Given the description of an element on the screen output the (x, y) to click on. 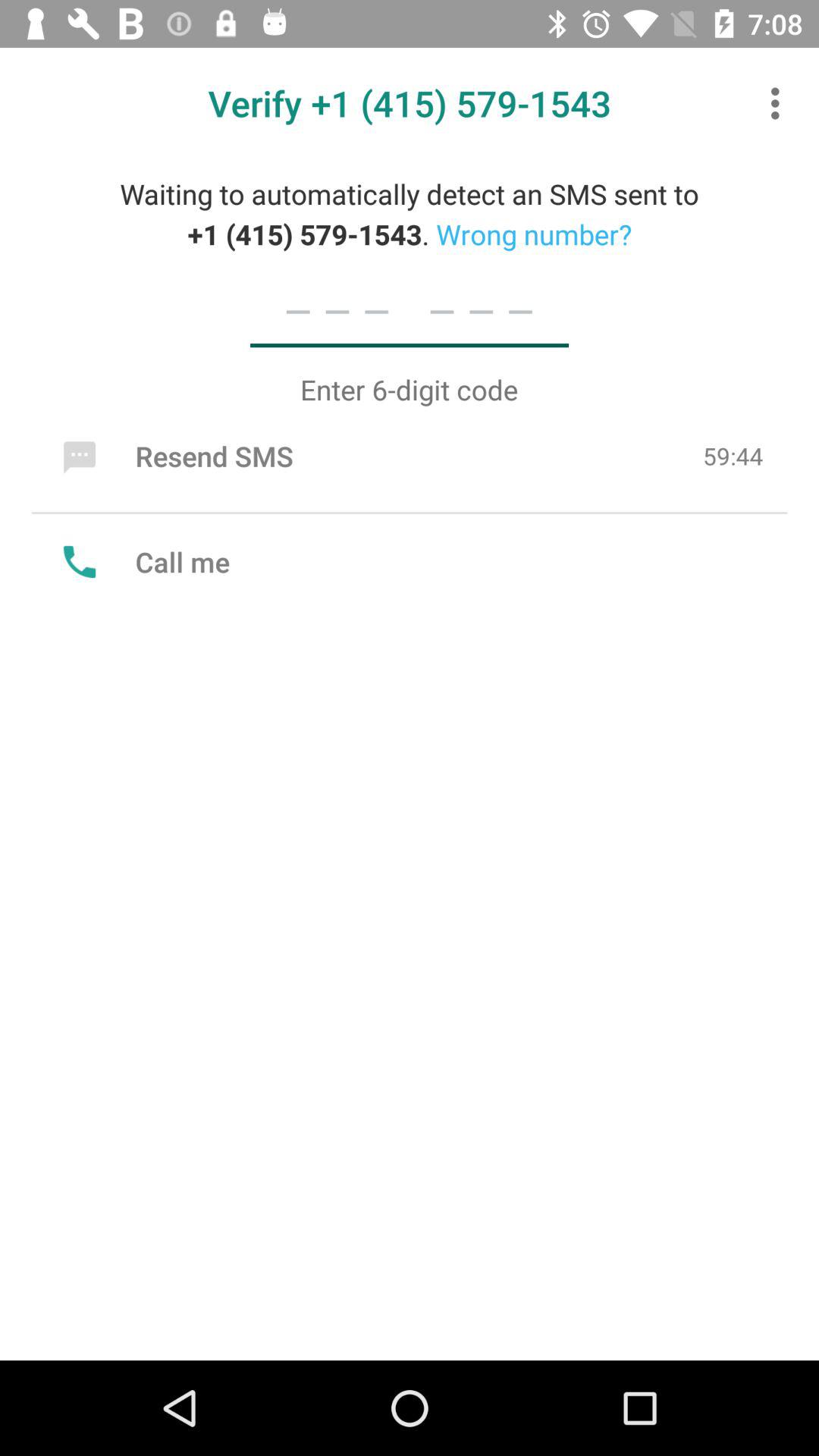
click icon next to the verify 1 415 (779, 103)
